Given the description of an element on the screen output the (x, y) to click on. 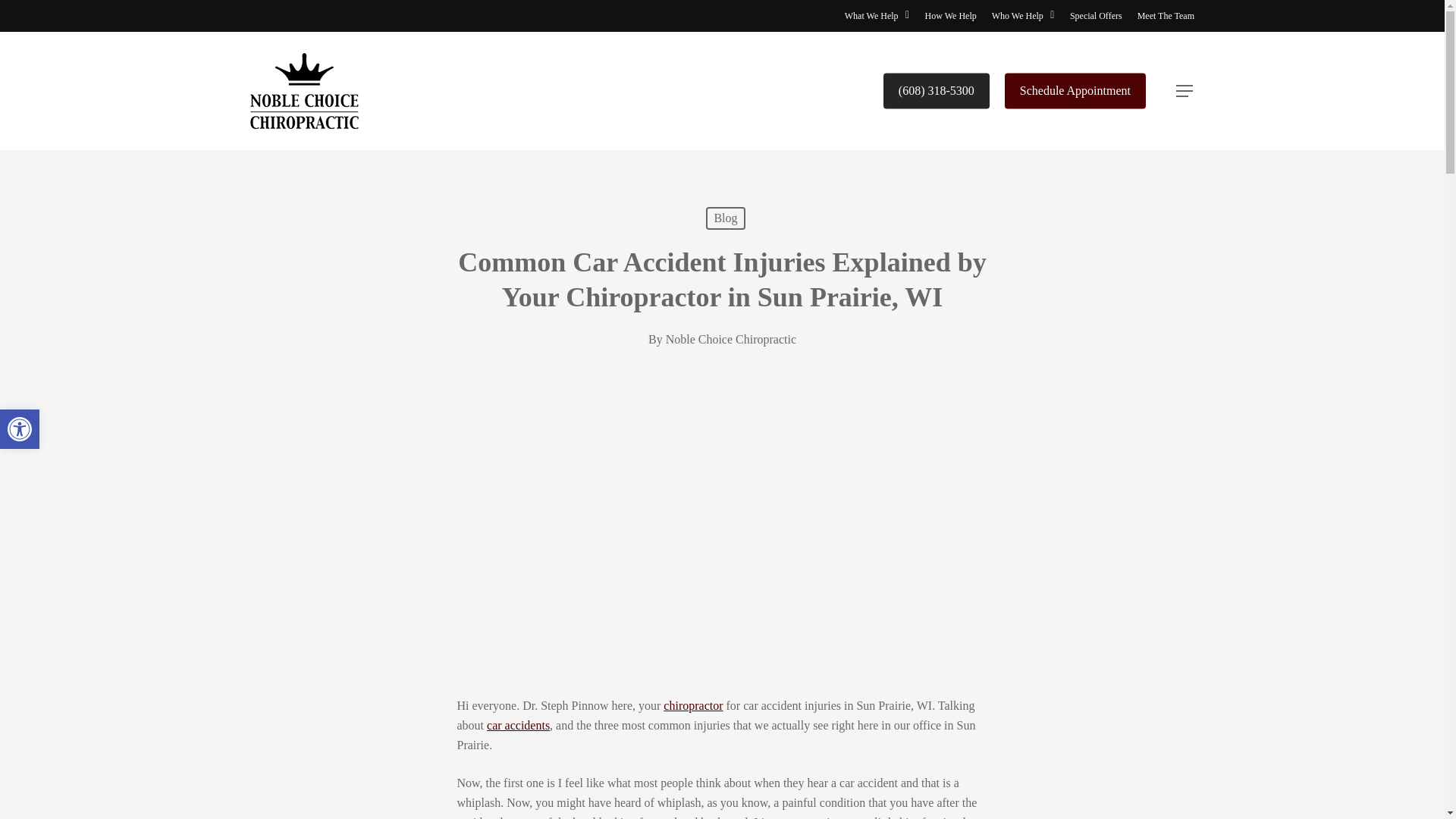
Meet The Team (1165, 15)
Car Accidents (518, 725)
How We Help (950, 15)
Noble Choice Chiropractic (730, 338)
chiropractor (692, 705)
Blog (725, 218)
What We Help (877, 15)
Posts by Noble Choice Chiropractic (730, 338)
Menu (1184, 91)
Accessibility Tools (19, 428)
